Given the description of an element on the screen output the (x, y) to click on. 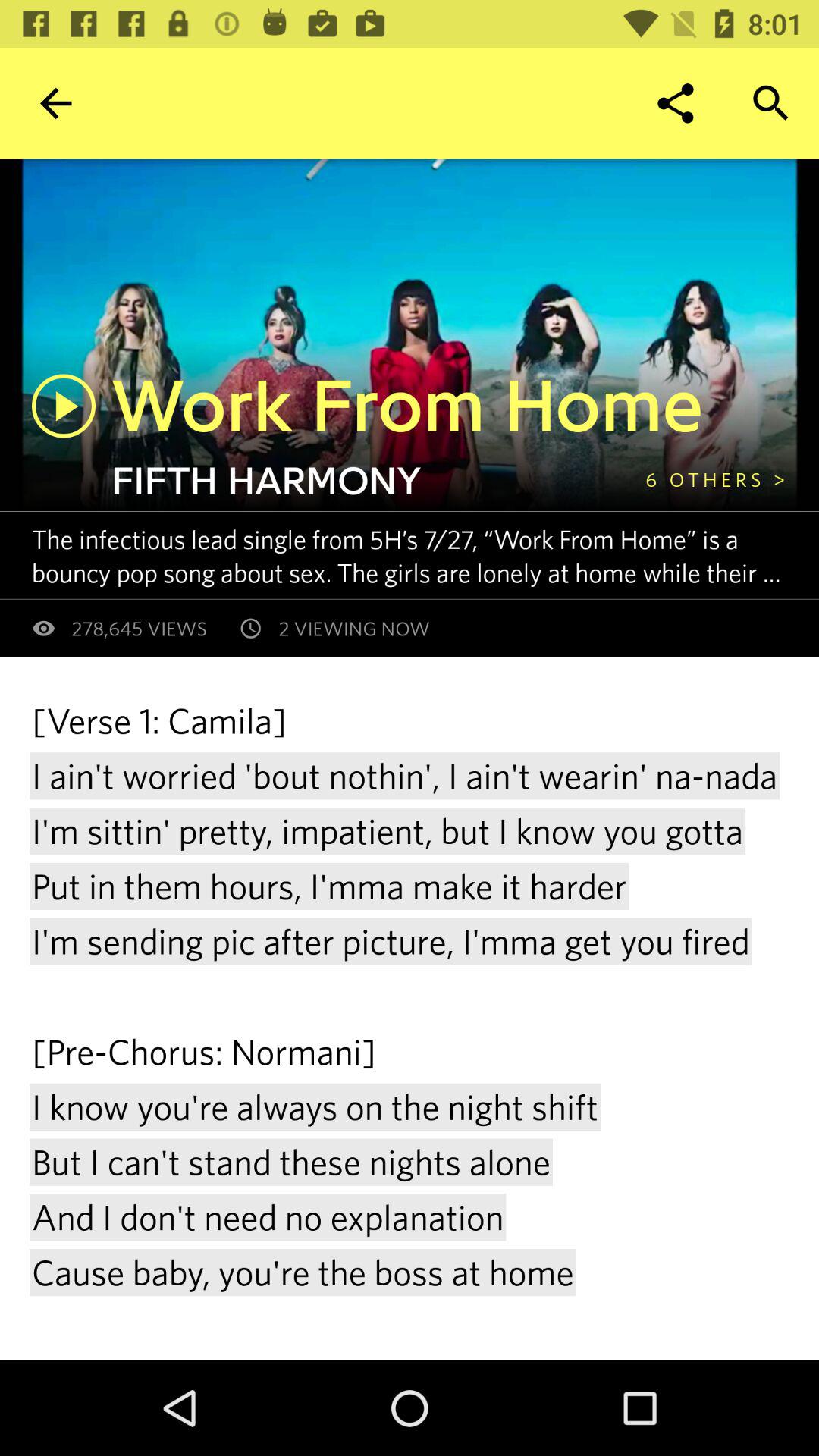
click the button on the top right corner of the web page (771, 103)
click on 6 others  (715, 478)
